Given the description of an element on the screen output the (x, y) to click on. 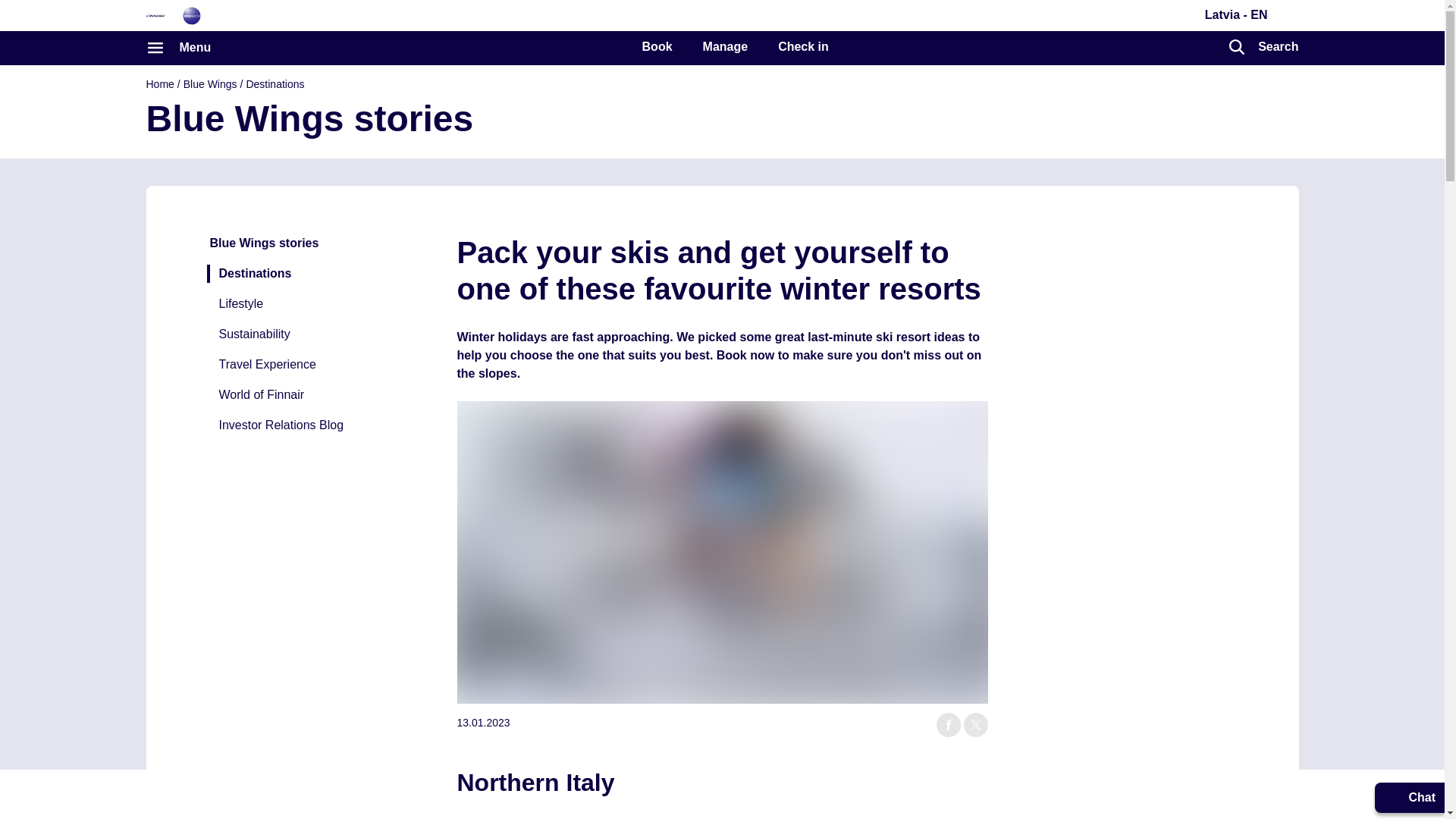
Book (657, 46)
Manage (725, 46)
Search (1262, 47)
Latvia - EN (1233, 14)
Menu (178, 47)
Check in (802, 46)
